Given the description of an element on the screen output the (x, y) to click on. 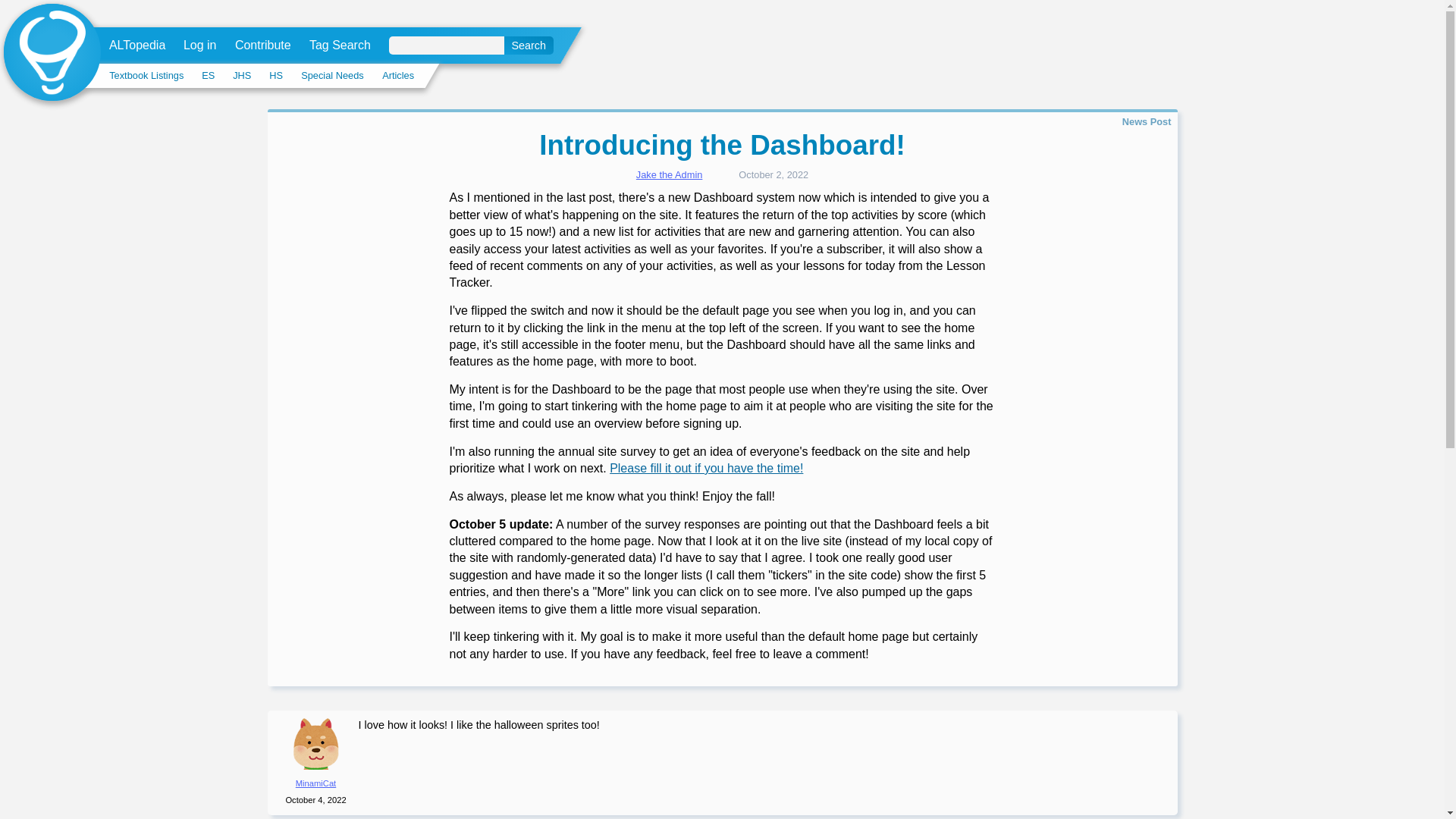
Search (528, 45)
Contribute (262, 45)
ES (208, 75)
Log in (199, 45)
Tag Search (339, 45)
Please fill it out if you have the time! (706, 468)
HS (275, 75)
Textbook Listings (146, 75)
Jake the Admin (669, 174)
Special Needs (332, 75)
Search (528, 45)
JHS (241, 75)
ALTopedia (137, 45)
Articles (397, 75)
Search (528, 45)
